Given the description of an element on the screen output the (x, y) to click on. 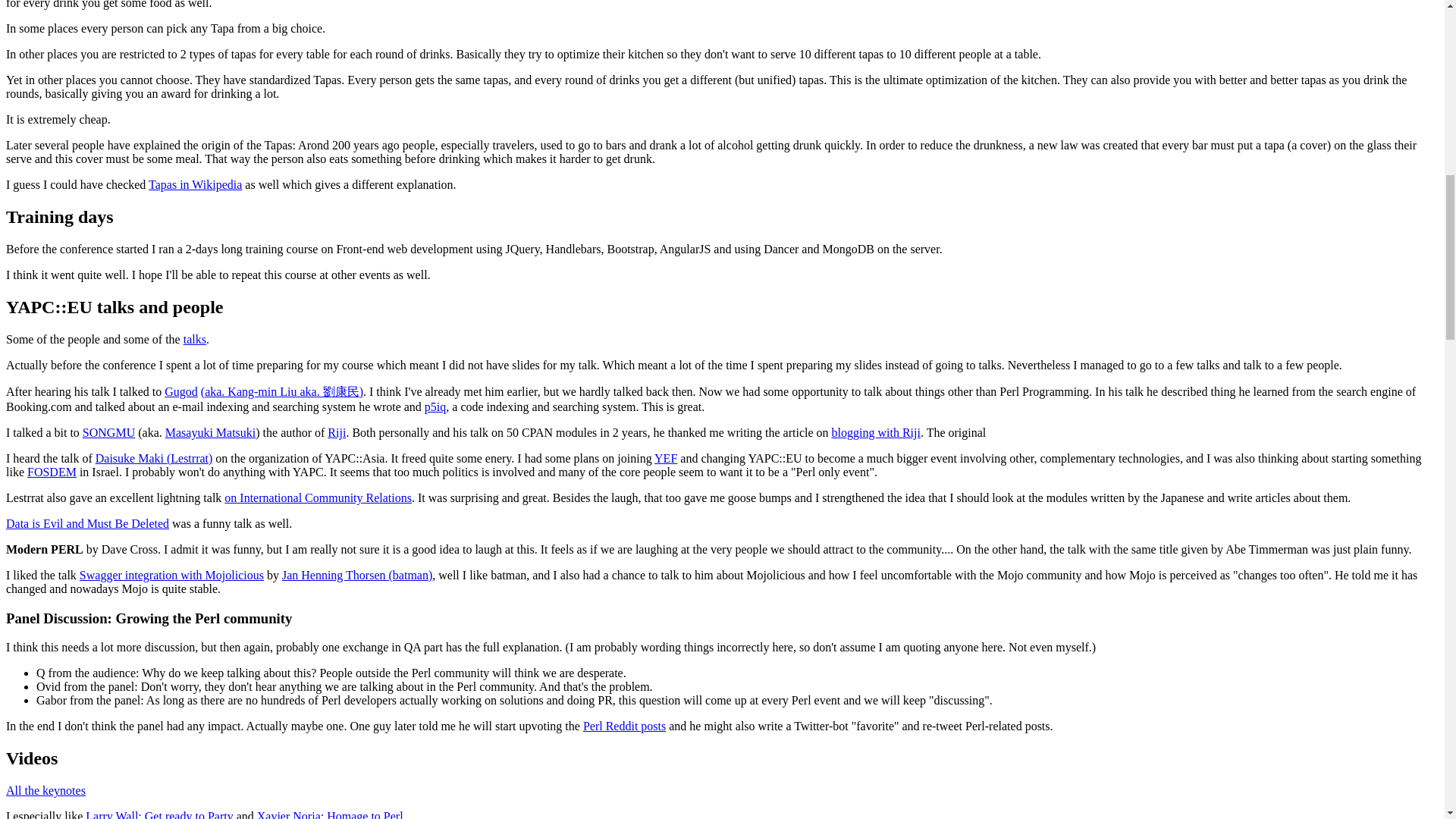
YEF (665, 458)
Masayuki Matsuki (210, 431)
blogging with Riji (875, 431)
Tapas in Wikipedia (194, 184)
talks (194, 338)
p5iq (435, 406)
Riji (336, 431)
Gugod (181, 391)
SONGMU (108, 431)
